Given the description of an element on the screen output the (x, y) to click on. 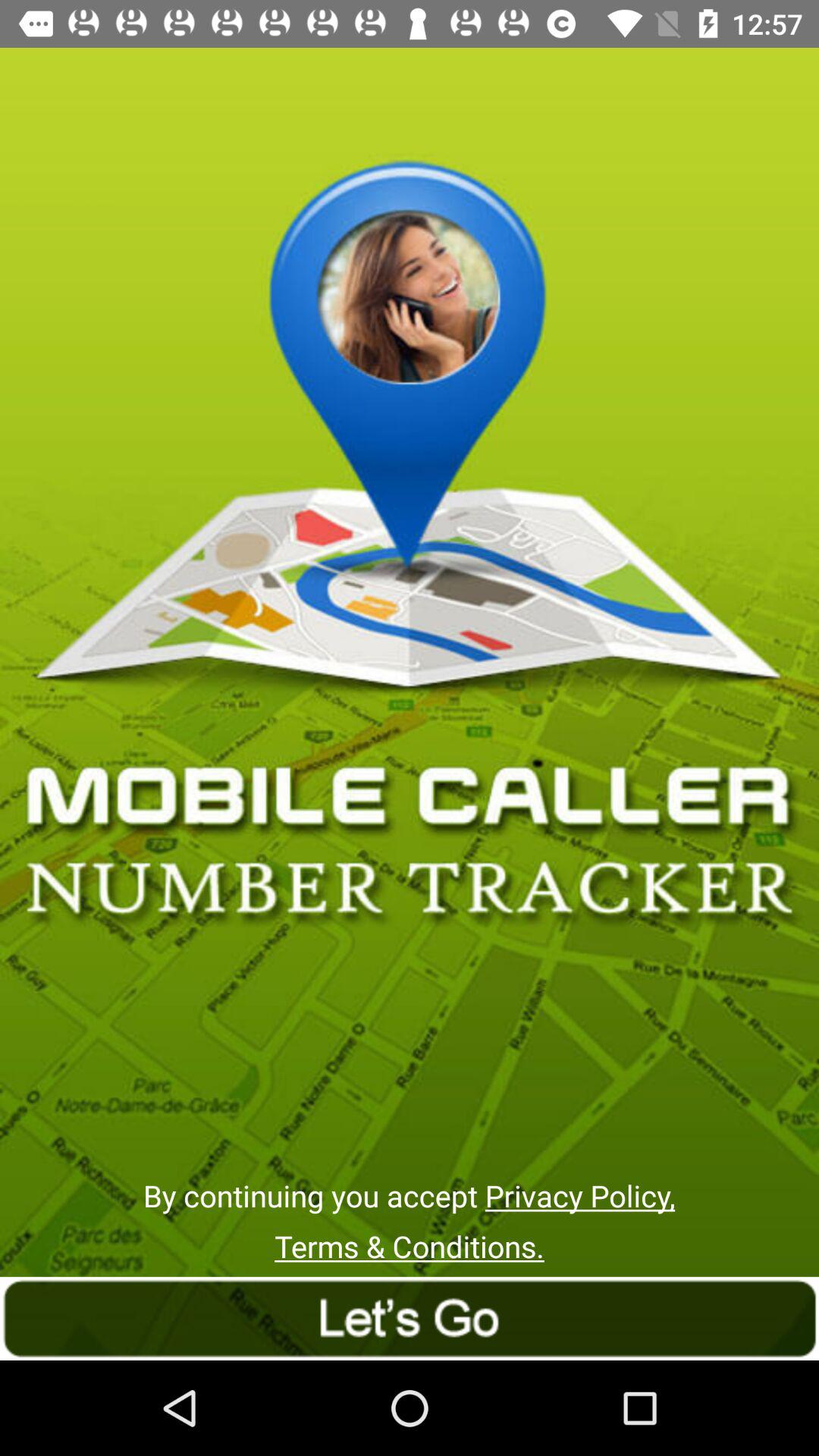
turn on item below by continuing you item (409, 1246)
